Given the description of an element on the screen output the (x, y) to click on. 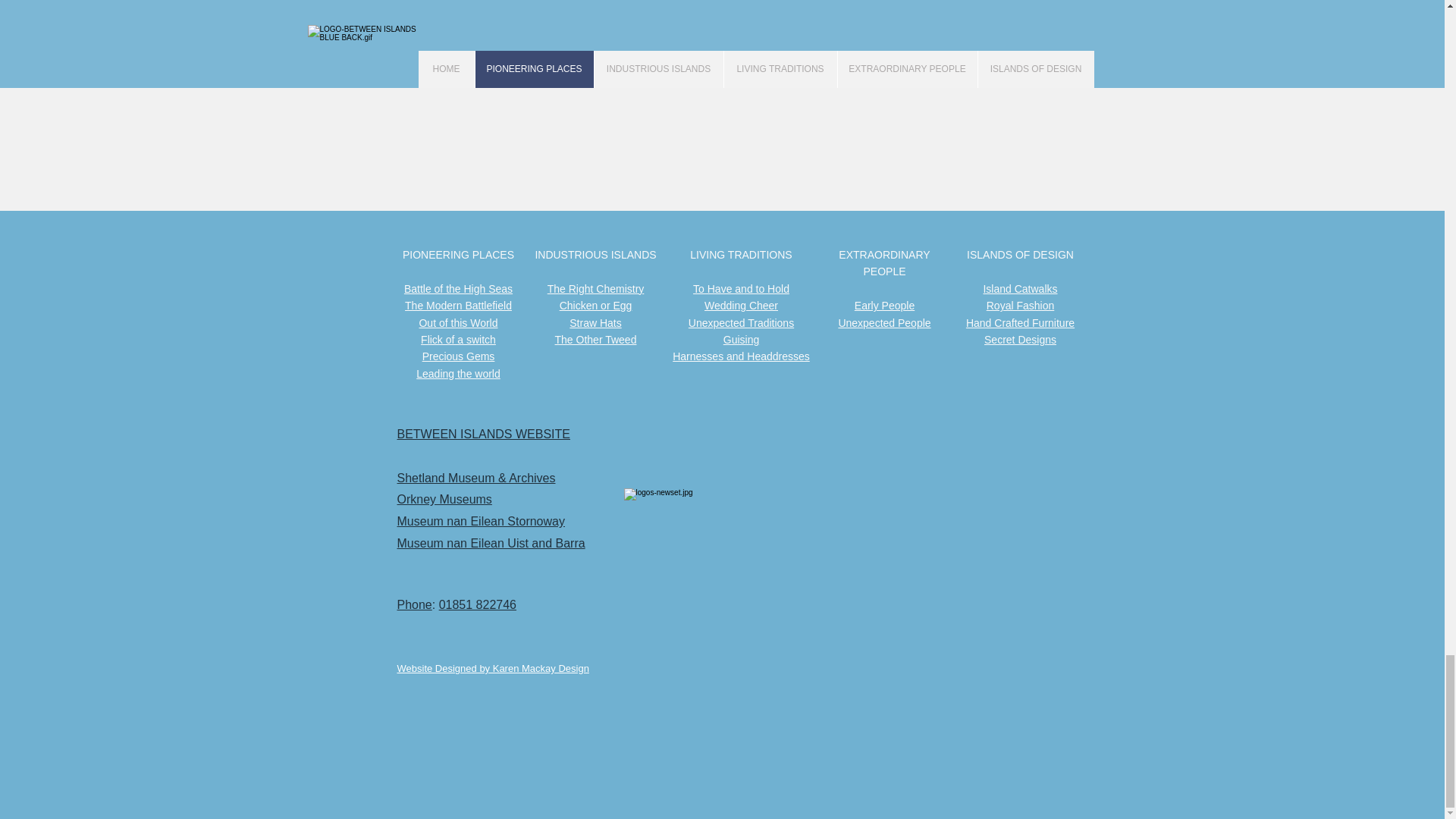
Out of this World (458, 322)
Battle of the High Seas (458, 288)
Precious Gems (458, 356)
The Modern Battlefield (458, 305)
Leading the world (458, 373)
Flick of a switch (458, 339)
